Given the description of an element on the screen output the (x, y) to click on. 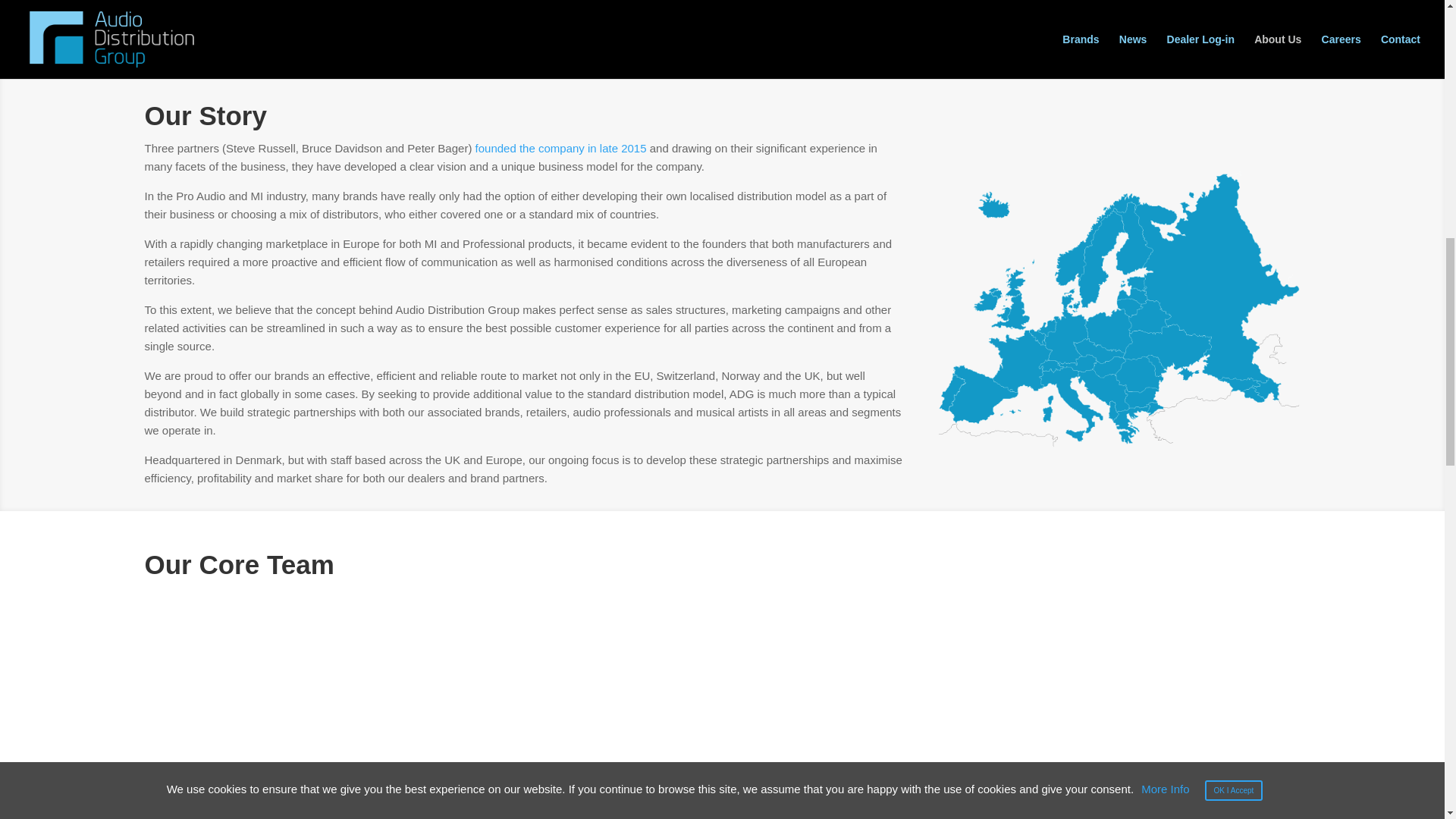
founded the company in late 2015 (561, 147)
